Given the description of an element on the screen output the (x, y) to click on. 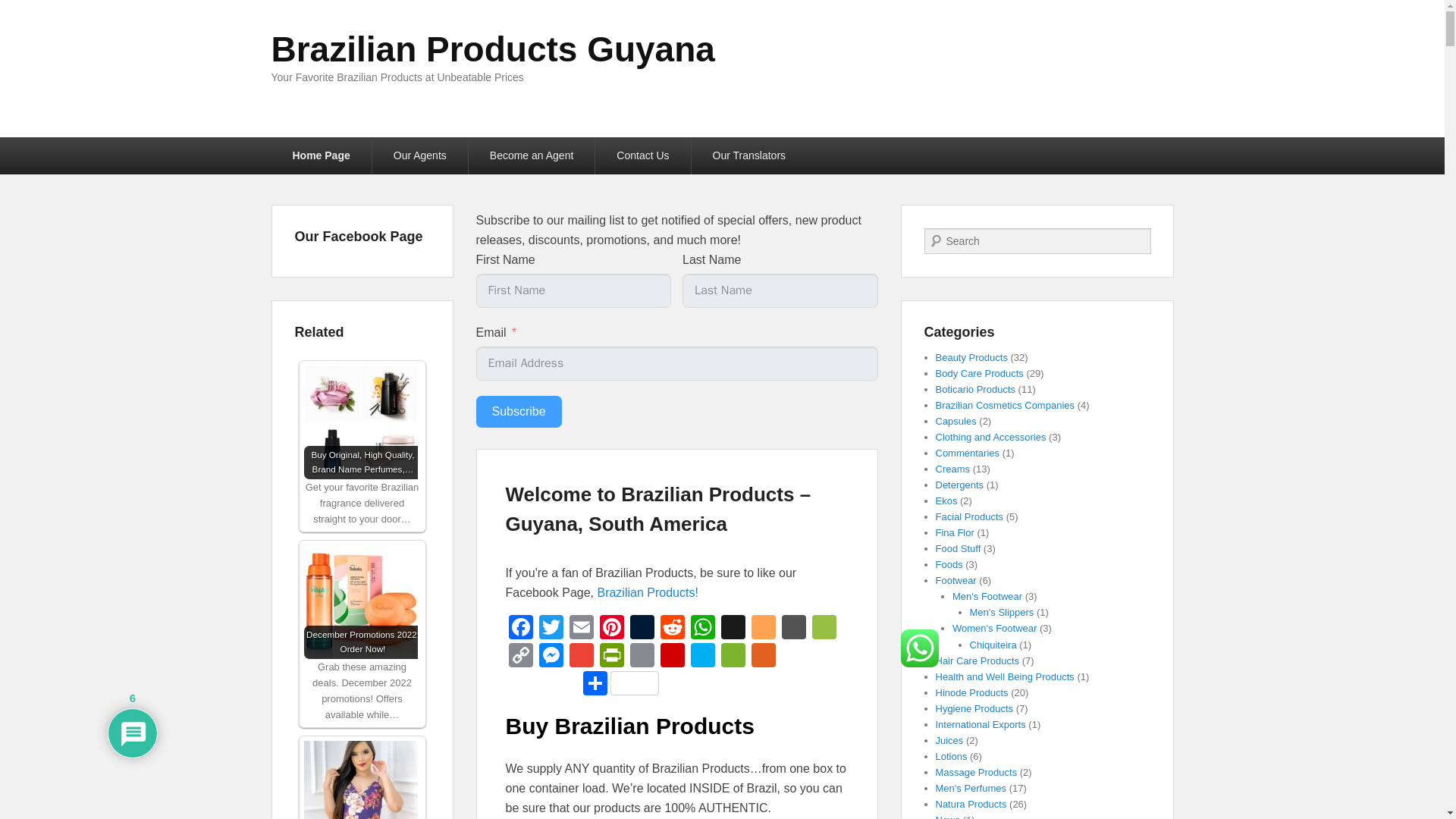
Twitter (550, 628)
Our Translators (748, 155)
Gmail (580, 656)
Bookmarks.fr (823, 628)
Brazilian Products! (646, 592)
Copy Link (520, 656)
WhatsApp (702, 628)
Tumblr (641, 628)
AOL Mail (732, 628)
Facebook (520, 628)
